Given the description of an element on the screen output the (x, y) to click on. 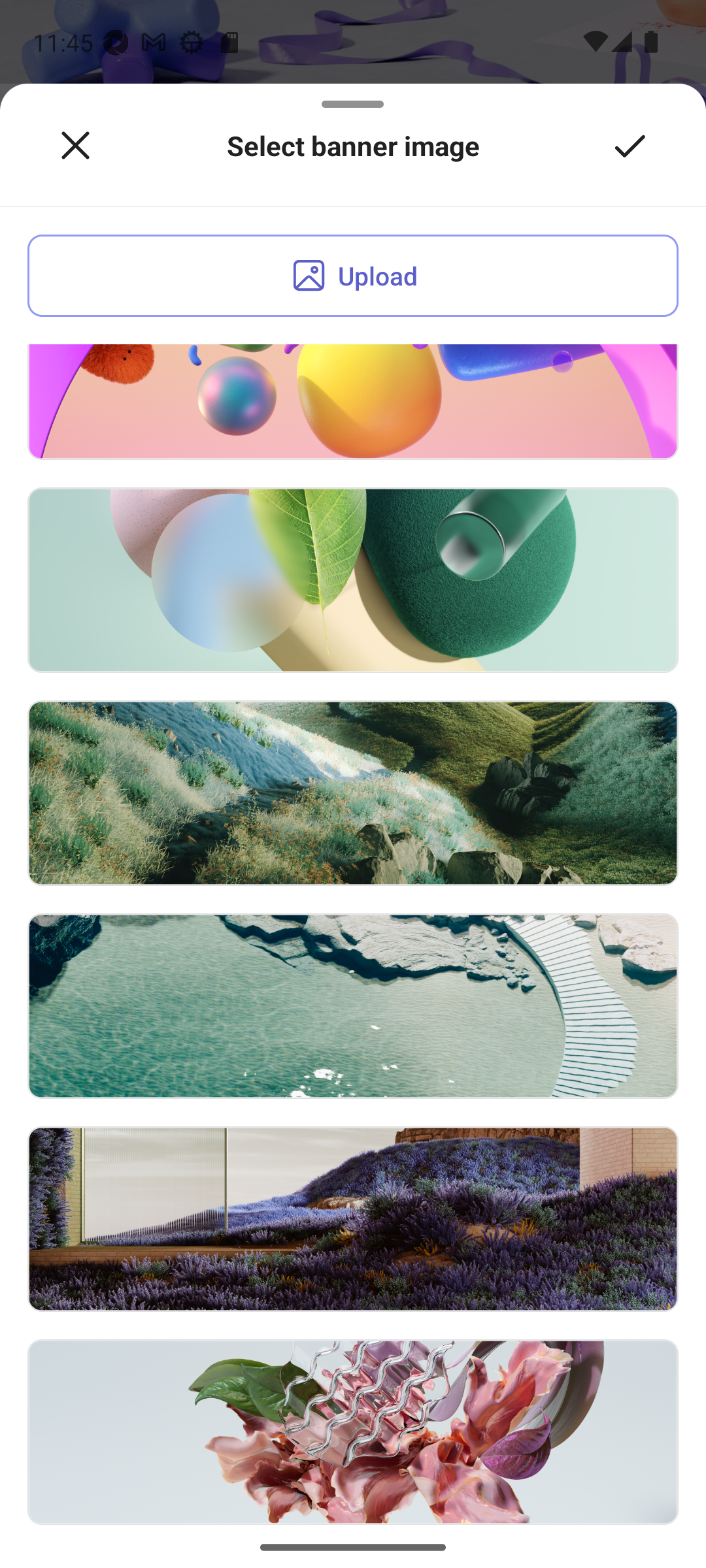
Cancel (75, 145)
Save (630, 145)
Upload (352, 275)
